Given the description of an element on the screen output the (x, y) to click on. 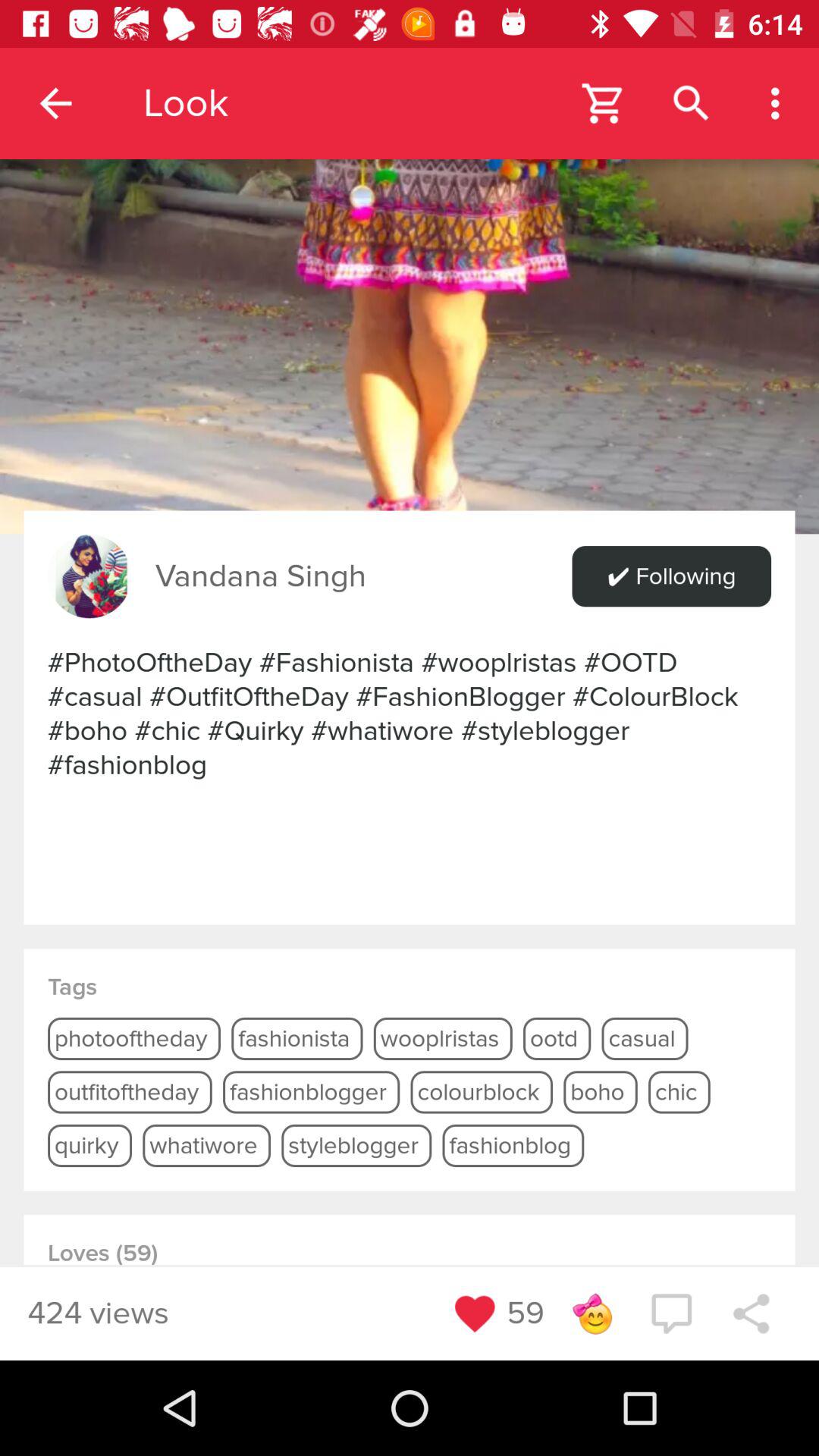
go to chat (671, 1313)
